Given the description of an element on the screen output the (x, y) to click on. 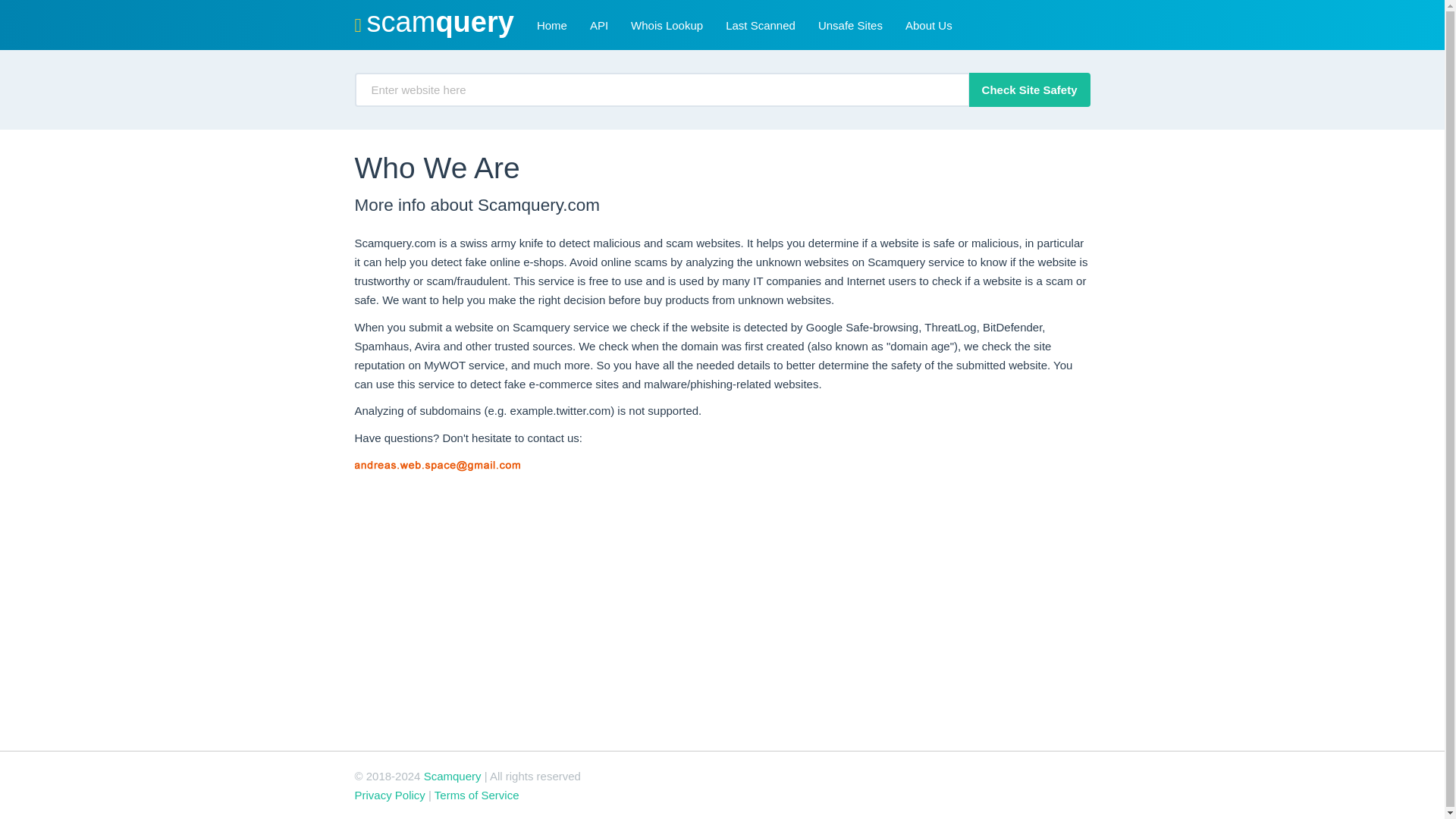
scamquery (433, 24)
API (599, 24)
Site Trustworthiness API (599, 24)
Last Scanned (760, 24)
Check Site Safety (1029, 89)
About Us (928, 24)
Home (551, 24)
Unsafe Sites (849, 24)
Whois Lookup (667, 24)
